Given the description of an element on the screen output the (x, y) to click on. 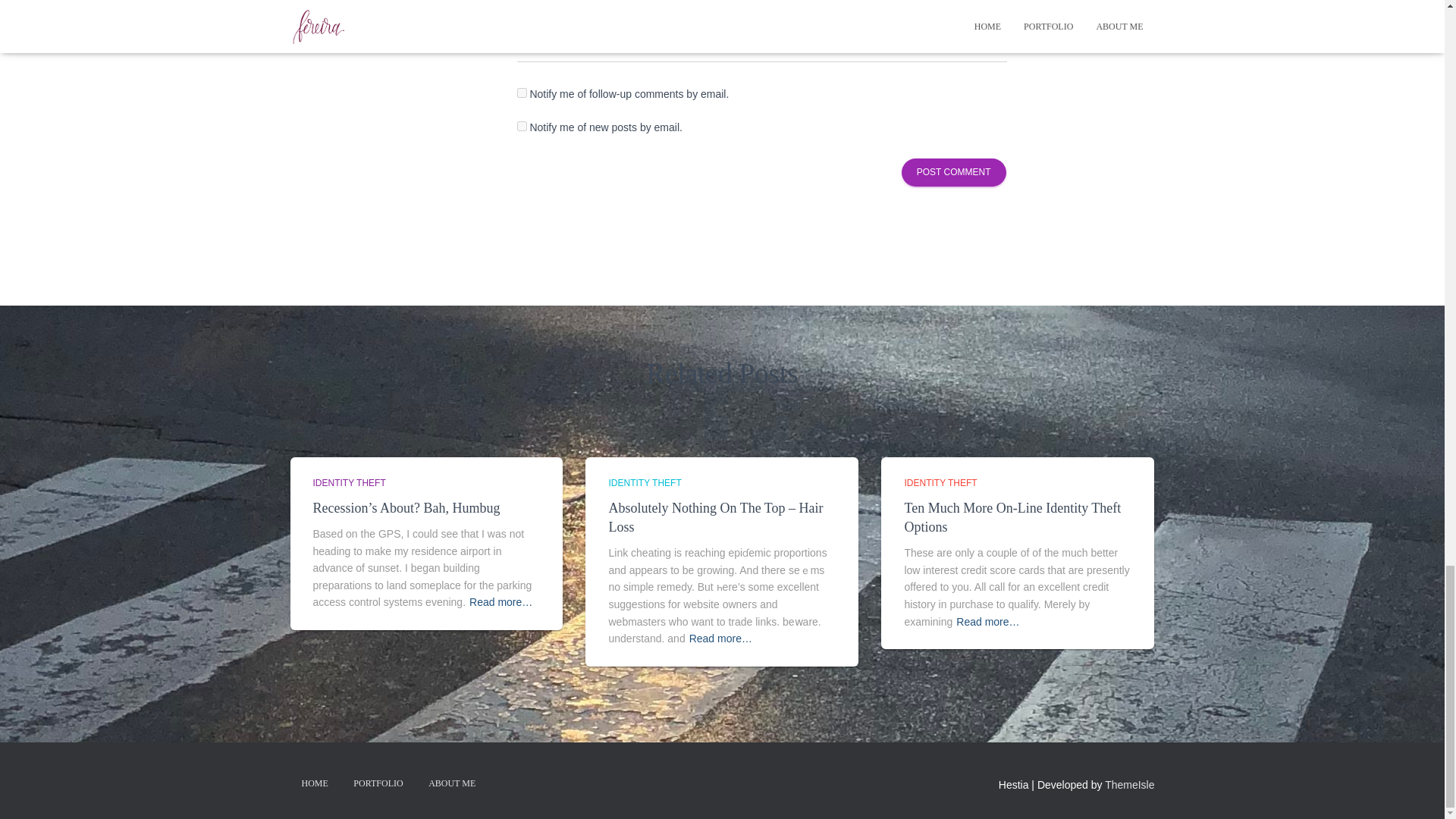
subscribe (521, 92)
HOME (314, 783)
Post Comment (953, 172)
Ten Much More On-Line Identity Theft Options (1012, 517)
Ten Much More On-Line Identity Theft Options (1012, 517)
View all posts in identity theft (940, 482)
IDENTITY THEFT (349, 482)
ABOUT ME (451, 783)
IDENTITY THEFT (644, 482)
PORTFOLIO (377, 783)
IDENTITY THEFT (940, 482)
Post Comment (953, 172)
View all posts in identity theft (644, 482)
subscribe (521, 126)
View all posts in identity theft (349, 482)
